Given the description of an element on the screen output the (x, y) to click on. 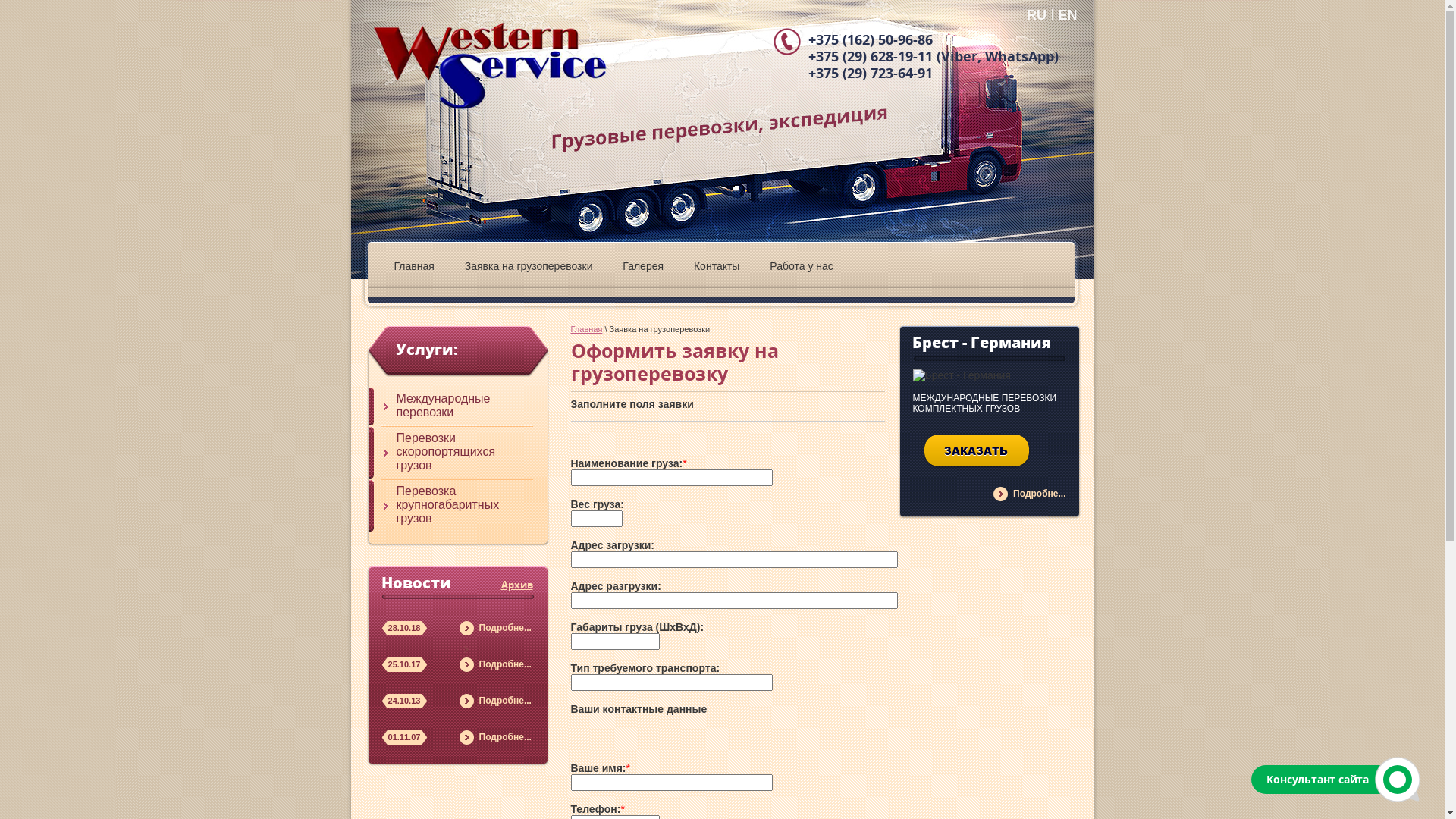
EN Element type: text (1066, 15)
RU Element type: text (1036, 15)
